Given the description of an element on the screen output the (x, y) to click on. 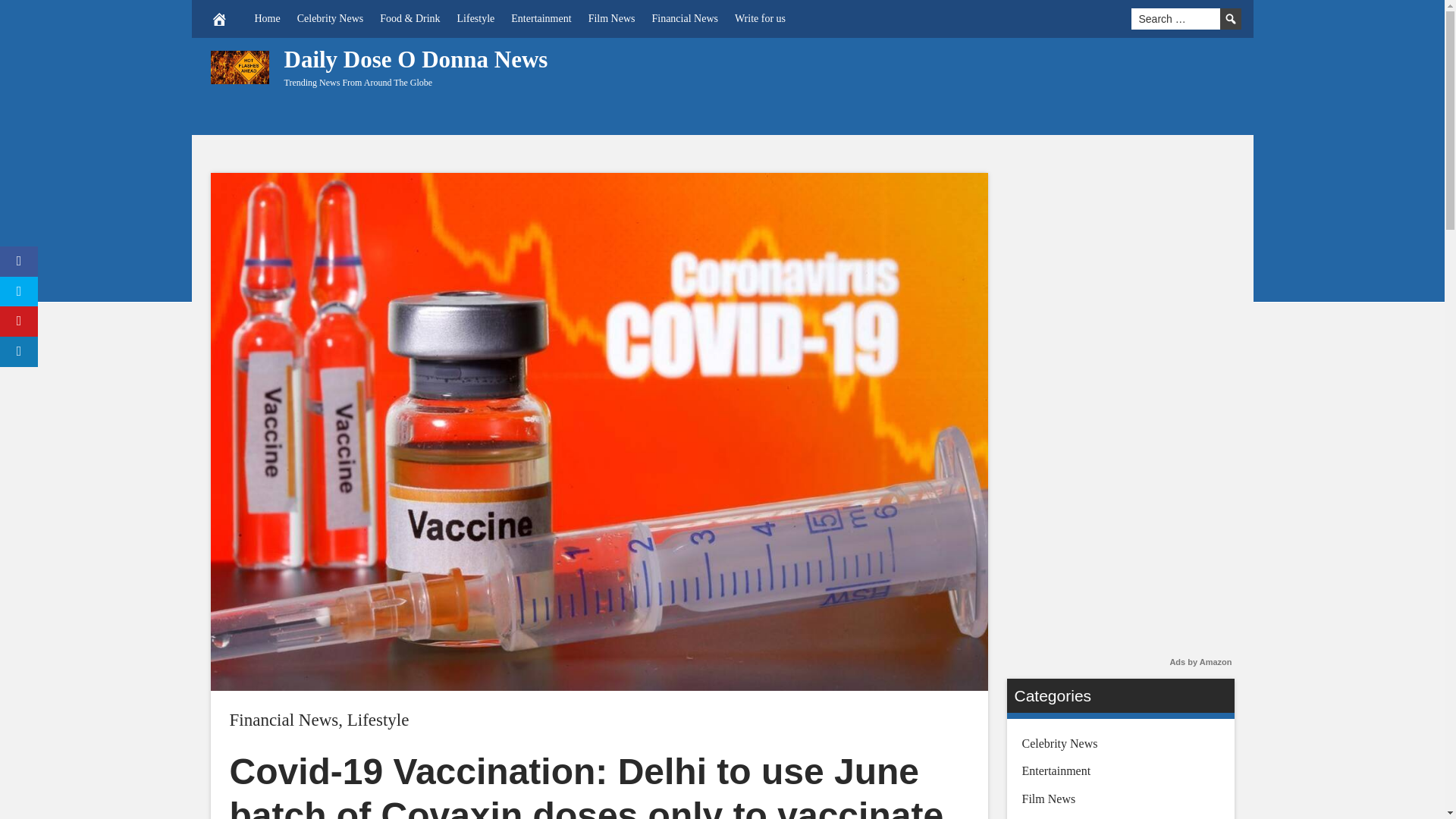
Celebrity News (329, 18)
Entertainment (540, 18)
Financial News (282, 719)
Lifestyle (378, 719)
Write for us (759, 18)
Financial News (684, 18)
Lifestyle (378, 719)
Home (267, 18)
Daily Dose O Donna News (415, 58)
Lifestyle (475, 18)
Financial News (282, 719)
Film News (611, 18)
